Given the description of an element on the screen output the (x, y) to click on. 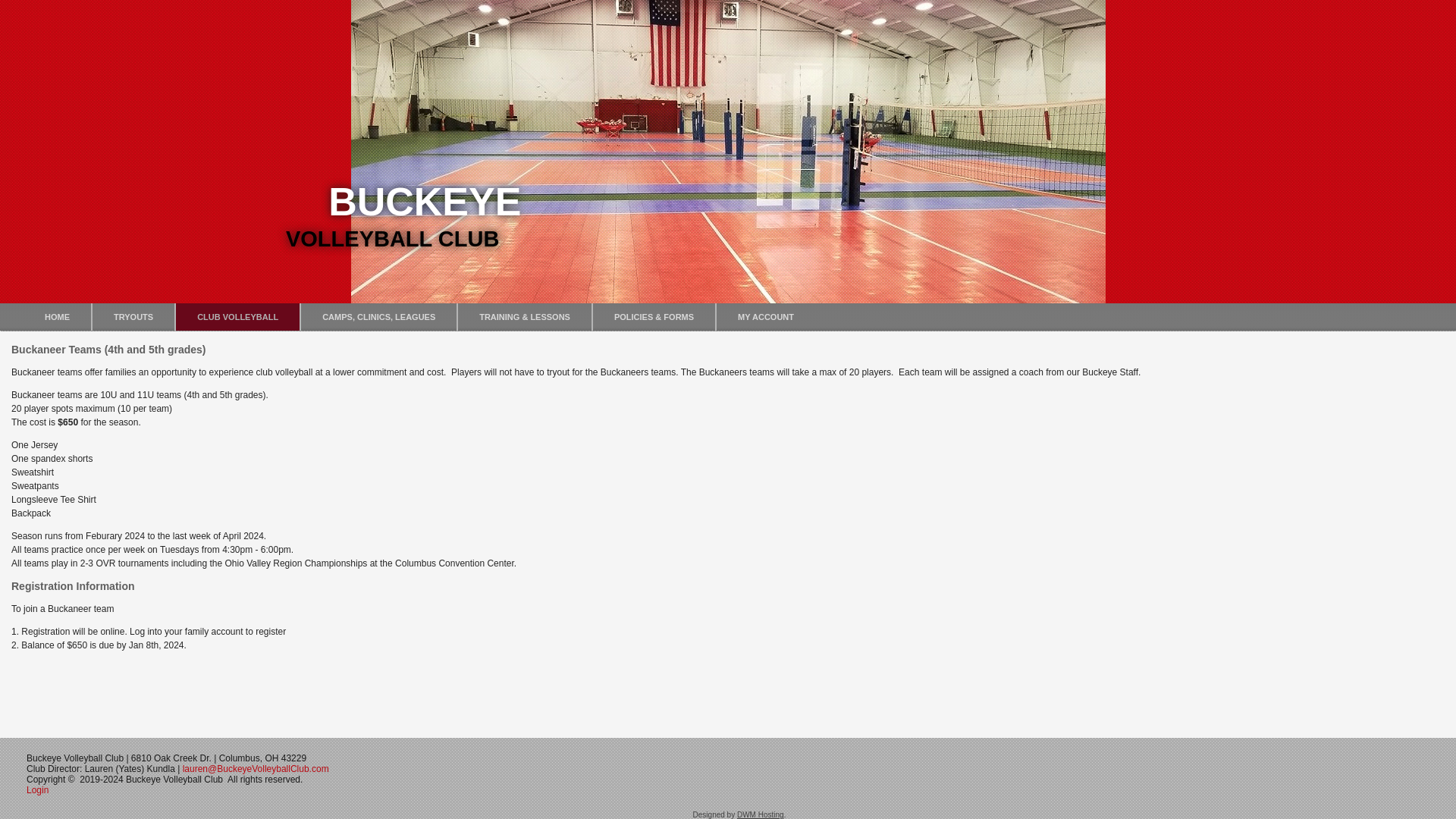
MY ACCOUNT (765, 316)
CLUB VOLLEYBALL (237, 316)
CAMPS, CLINICS, LEAGUES (379, 316)
TRYOUTS (133, 316)
Login  (38, 789)
HOME (56, 316)
BUCKEYE (425, 201)
